Given the description of an element on the screen output the (x, y) to click on. 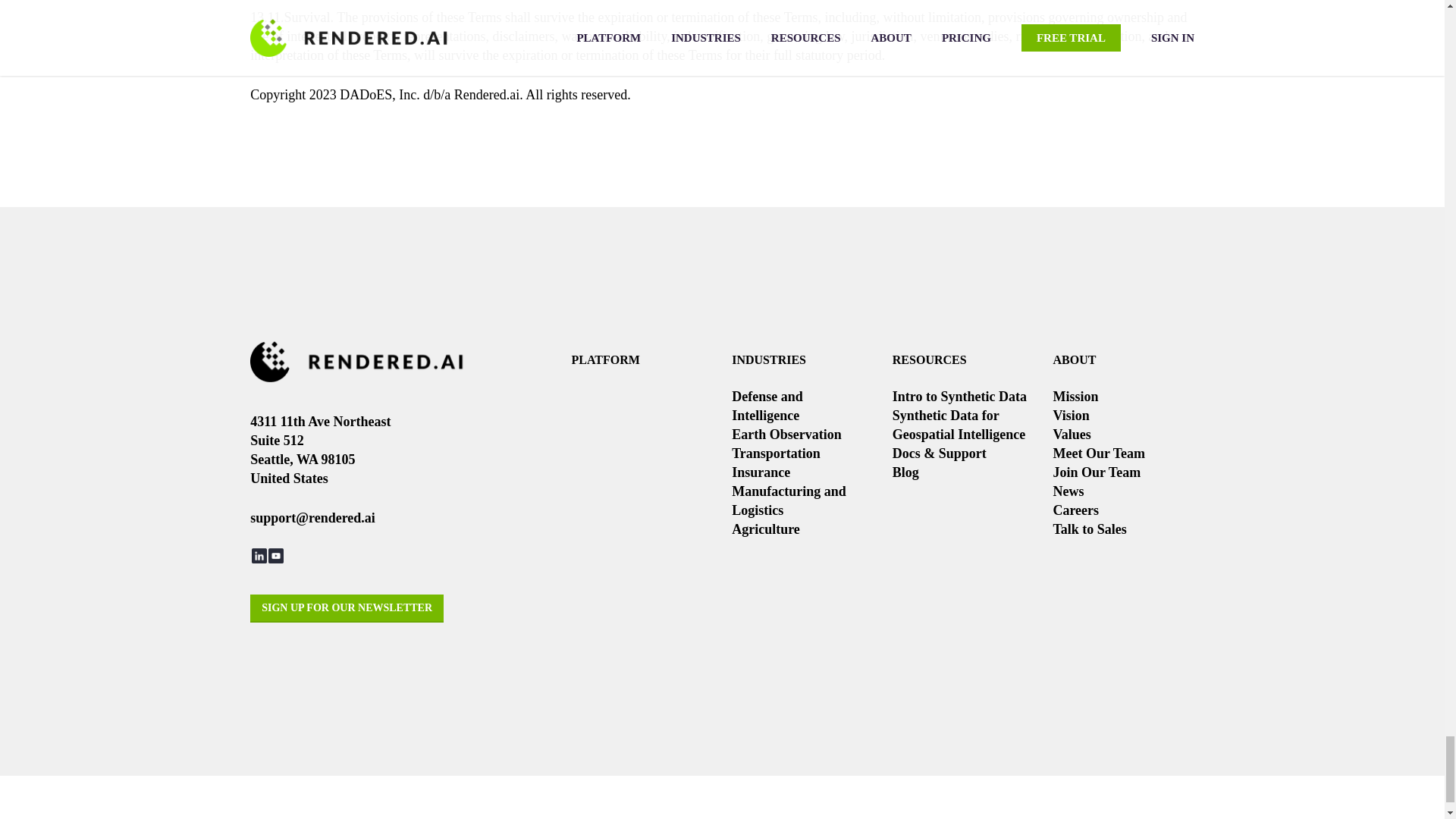
SIGN UP FOR OUR NEWSLETTER (347, 608)
